Given the description of an element on the screen output the (x, y) to click on. 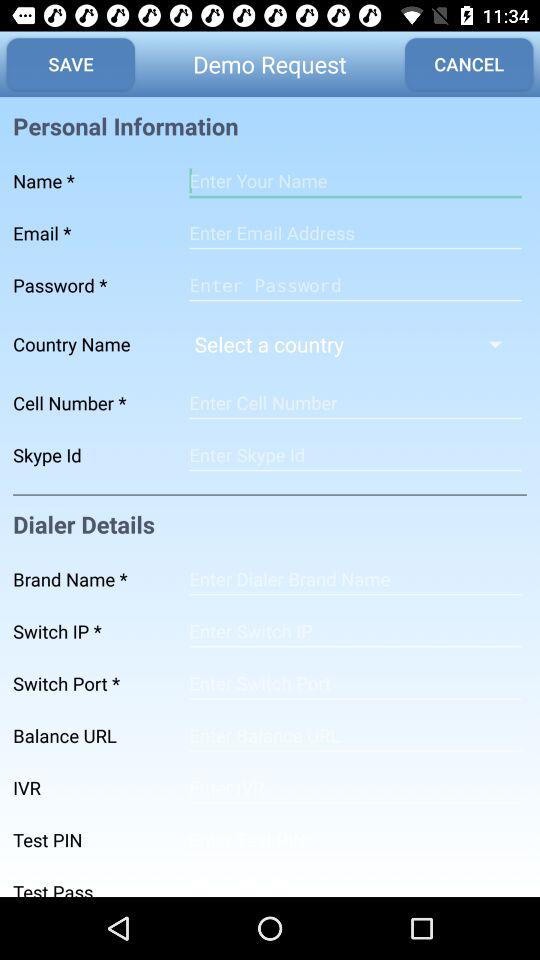
switch ip (355, 631)
